Given the description of an element on the screen output the (x, y) to click on. 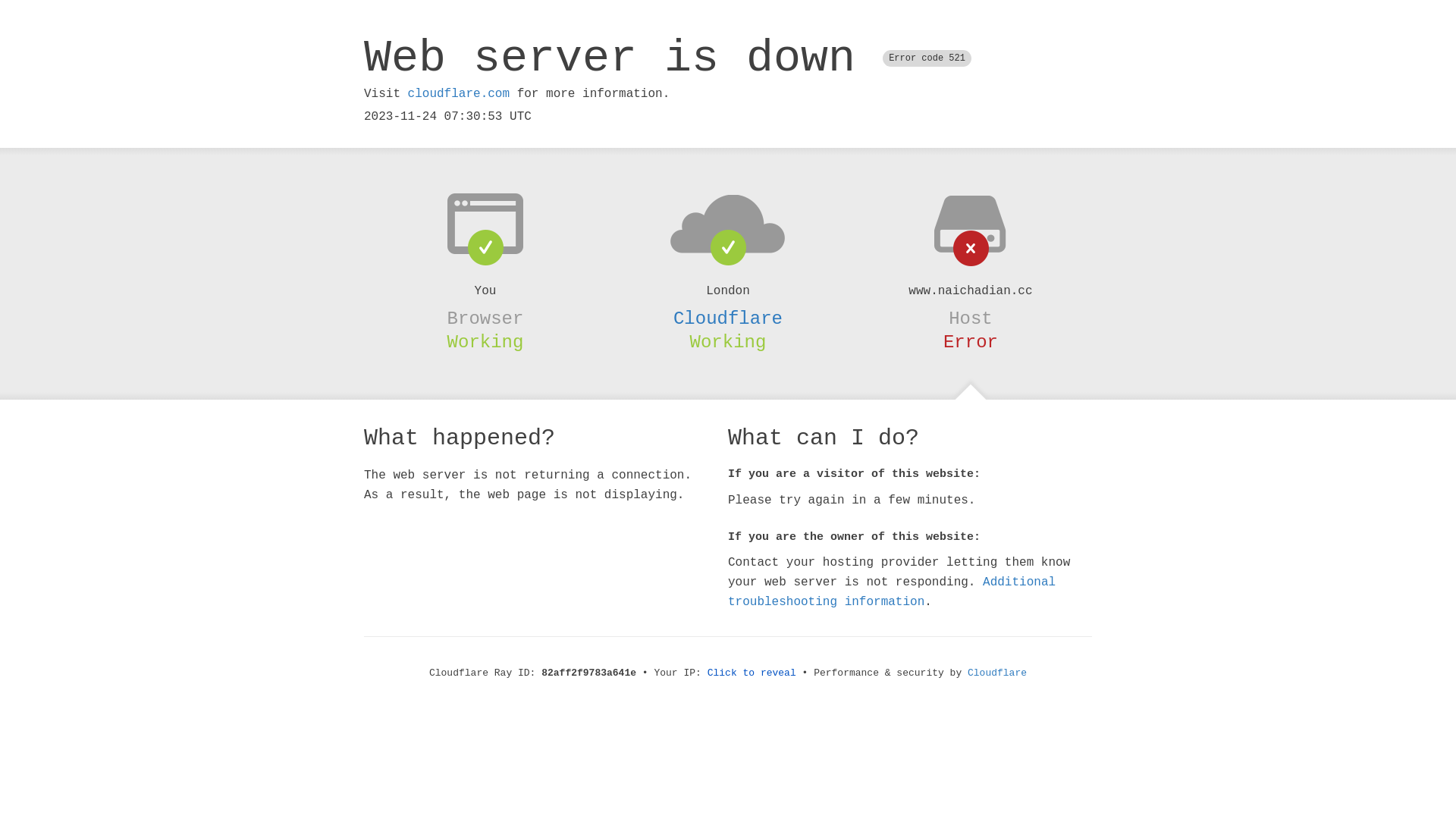
cloudflare.com Element type: text (458, 93)
Click to reveal Element type: text (751, 672)
Cloudflare Element type: text (996, 672)
Cloudflare Element type: text (727, 318)
Additional troubleshooting information Element type: text (891, 591)
